Given the description of an element on the screen output the (x, y) to click on. 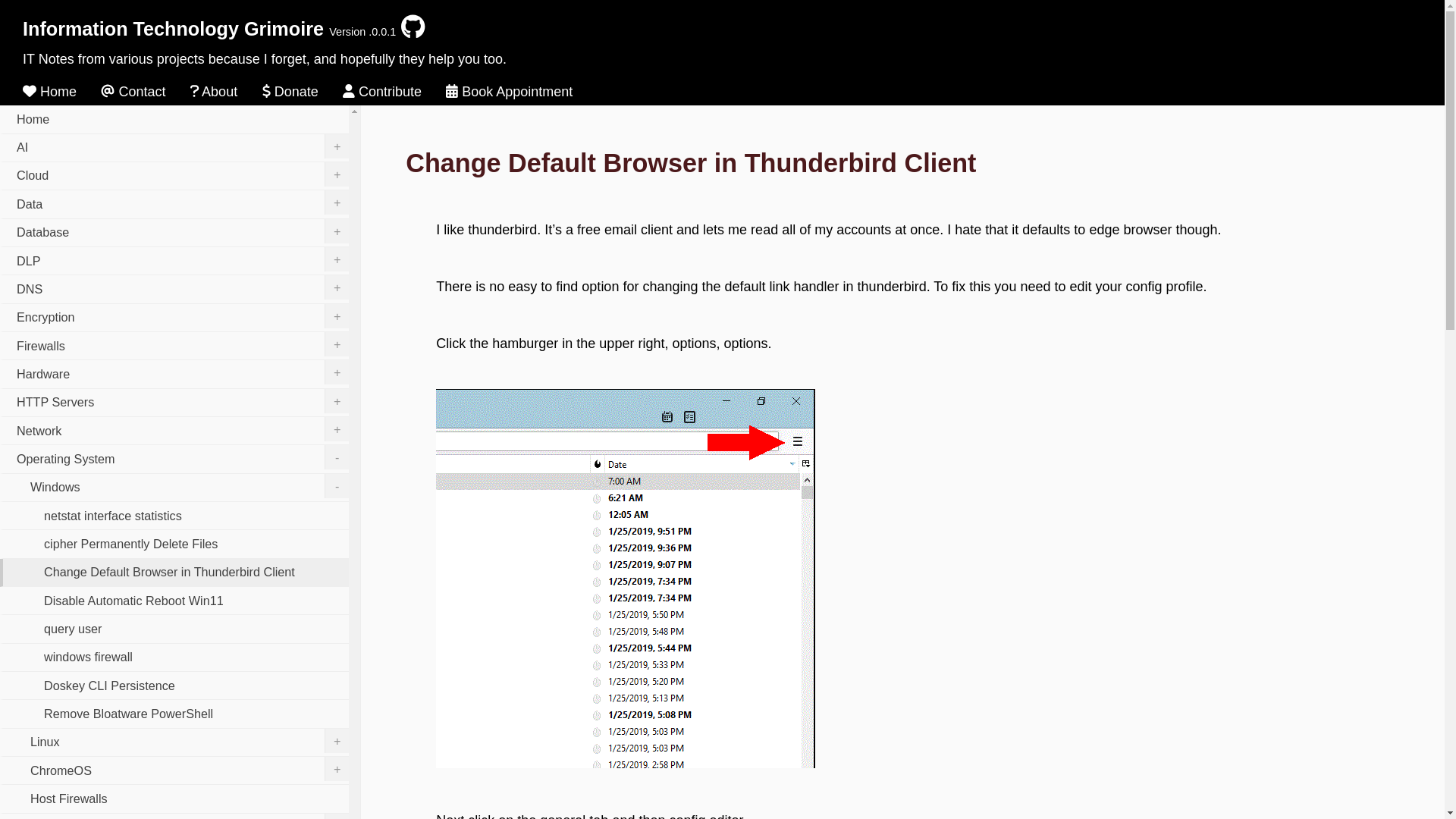
Home (174, 119)
 About (213, 91)
 Contribute (382, 91)
 Donate (290, 91)
 Contact (132, 91)
 Book Appointment (508, 91)
 Home (50, 91)
